Given the description of an element on the screen output the (x, y) to click on. 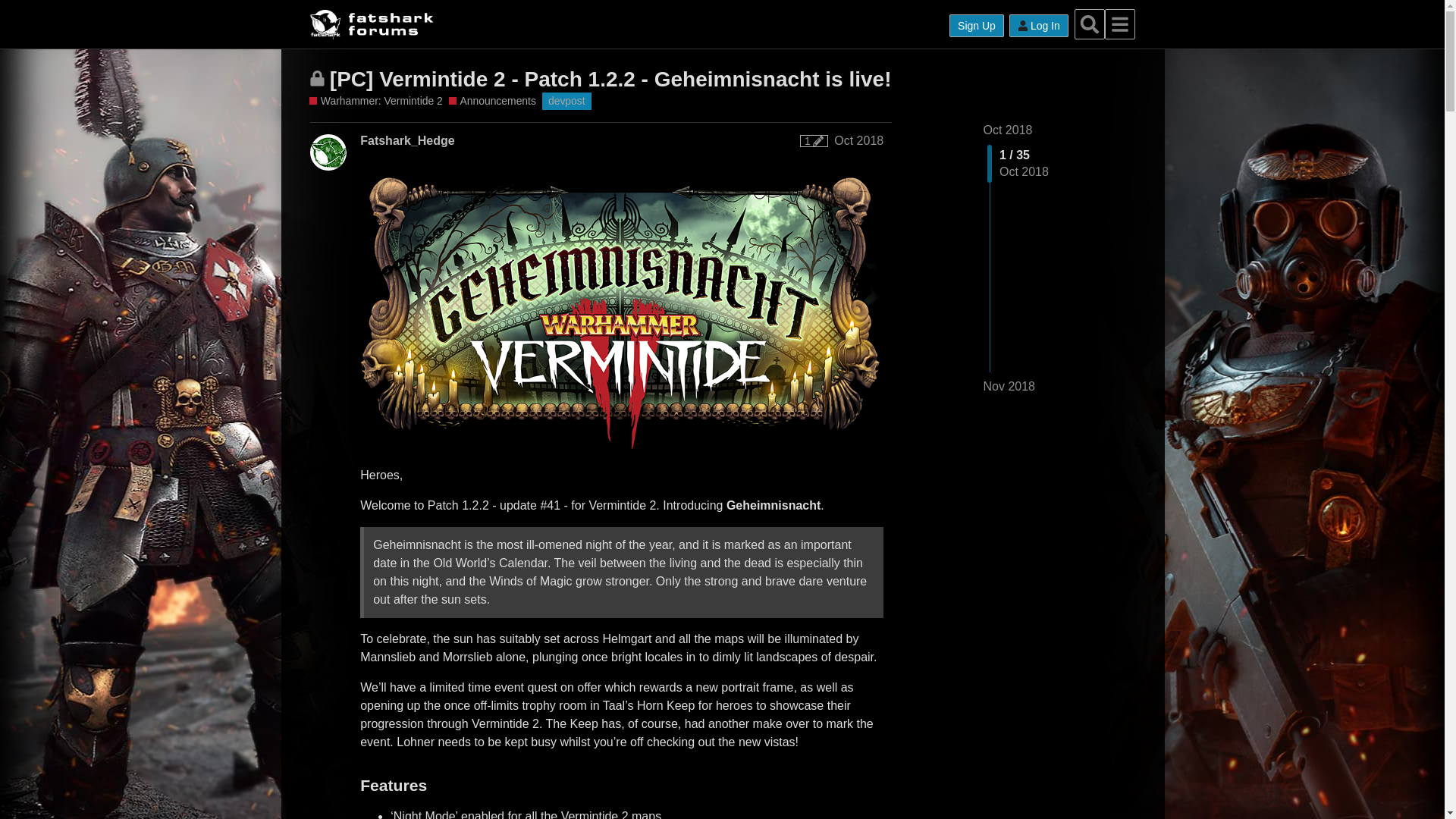
Jump to the last post (1008, 386)
post last edited on Jun 18, 2022 2:08 am (813, 141)
This topic is closed; it no longer accepts new replies (316, 78)
Warhammer: Vermintide 2 (375, 101)
Nov 2018 (1008, 386)
Sign Up (976, 25)
Oct 2018 (858, 140)
menu (1120, 24)
Search (1089, 24)
